Given the description of an element on the screen output the (x, y) to click on. 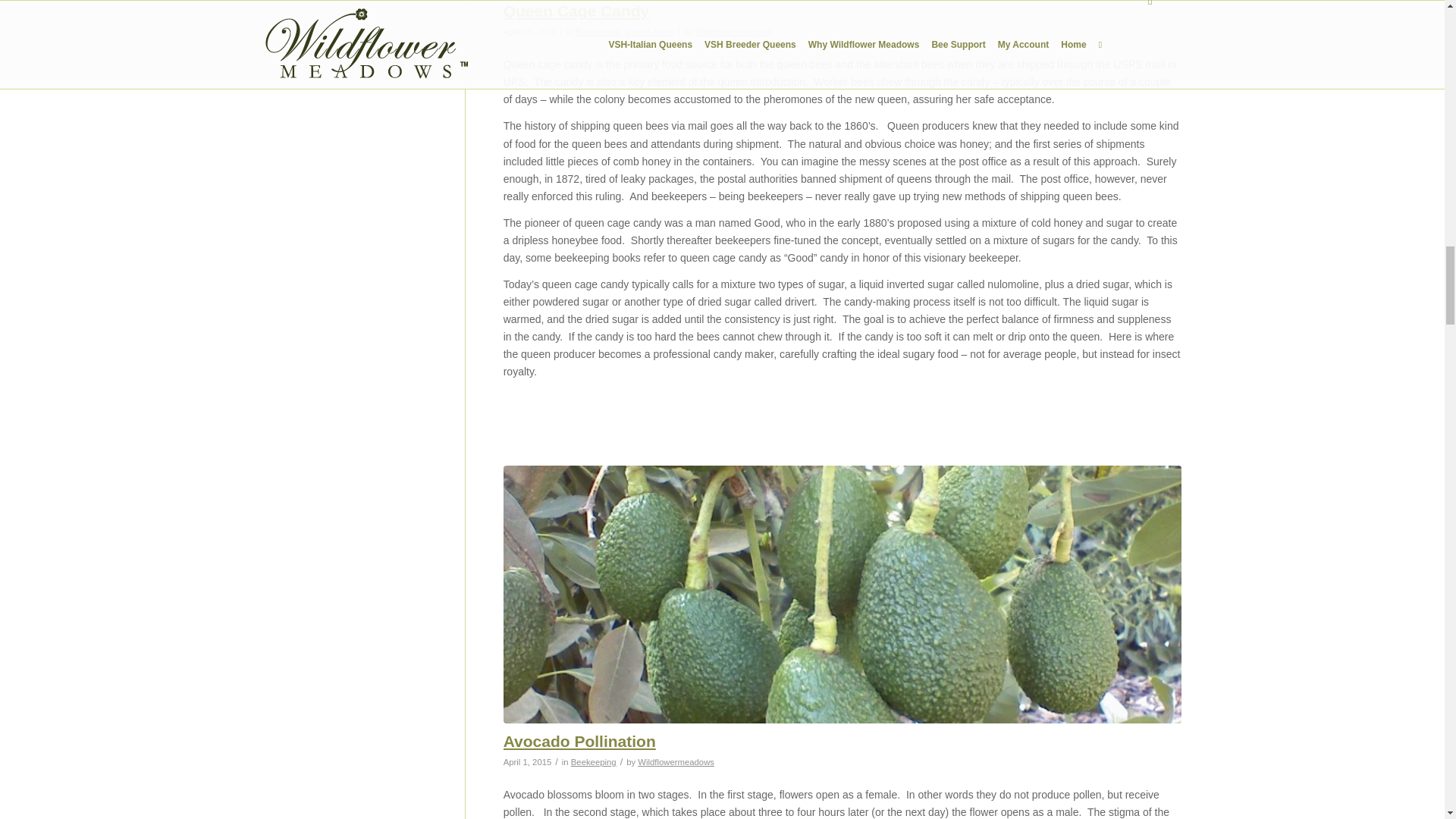
Permanent Link: Queen Cage Candy (576, 10)
Queen Cage Candy (576, 10)
Posts by Wildflowermeadows (733, 31)
Queen Bees (649, 31)
Beekeeping (598, 31)
Wildflowermeadows (733, 31)
Permanent Link: Avocado Pollination (579, 741)
Beekeeping (592, 761)
Avocado Pollination (579, 741)
